Given the description of an element on the screen output the (x, y) to click on. 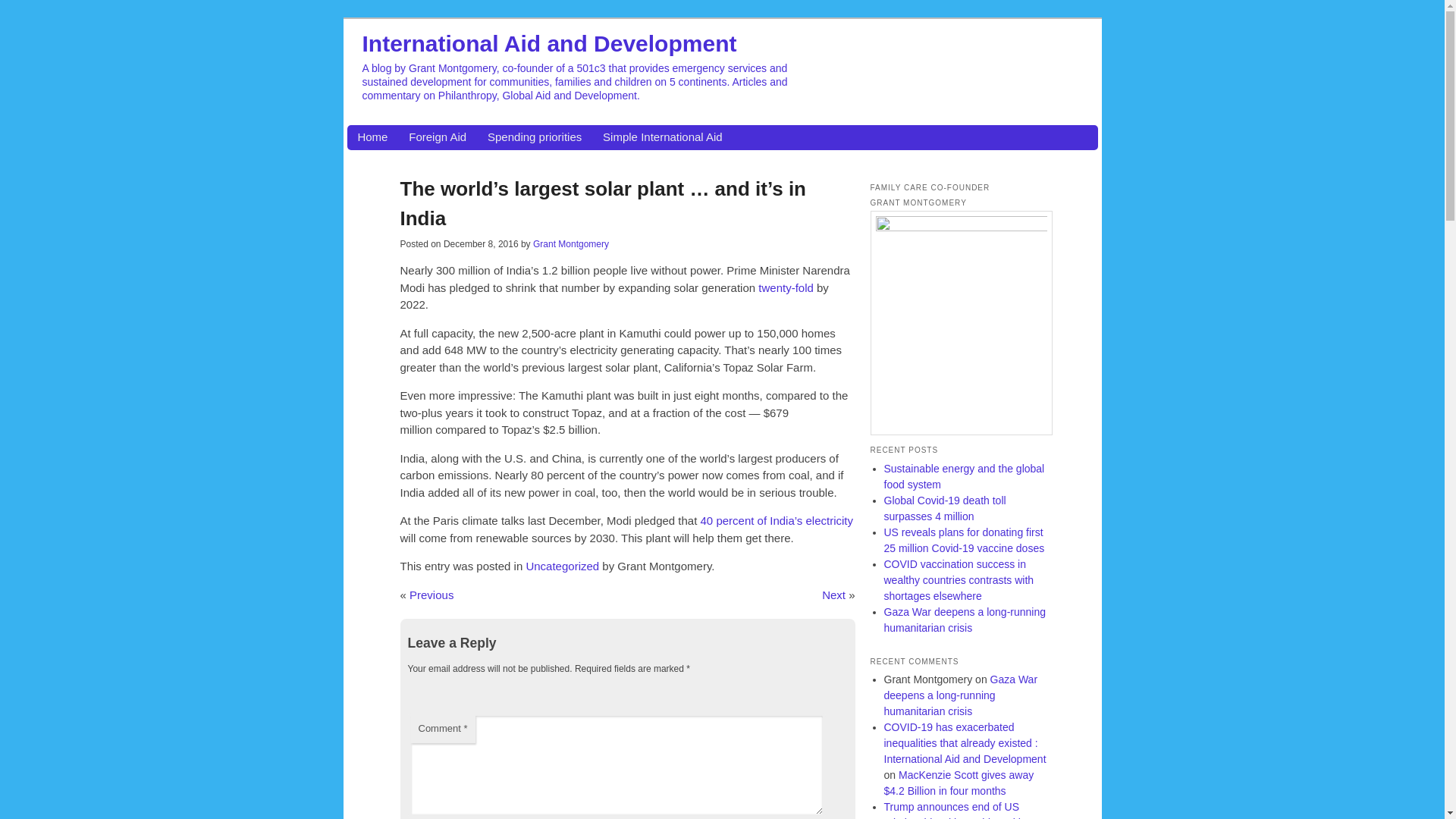
Uncategorized (561, 565)
Previous (430, 594)
Grant Montgomery (570, 244)
Spending priorities (533, 137)
twenty-fold (785, 287)
Home (371, 137)
Global Covid-19 death toll surpasses 4 million (944, 508)
